Given the description of an element on the screen output the (x, y) to click on. 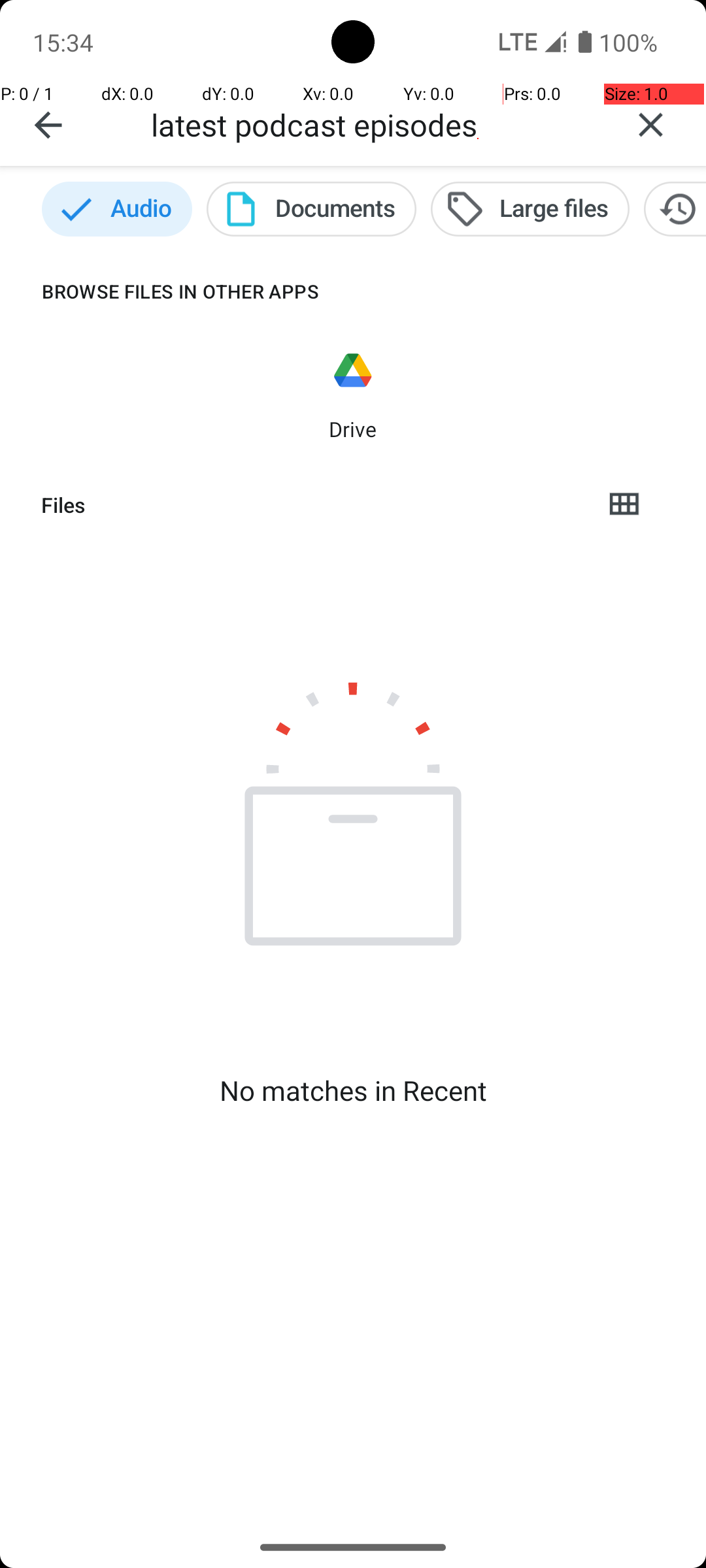
latest podcast episodes Element type: android.widget.AutoCompleteTextView (373, 124)
